Given the description of an element on the screen output the (x, y) to click on. 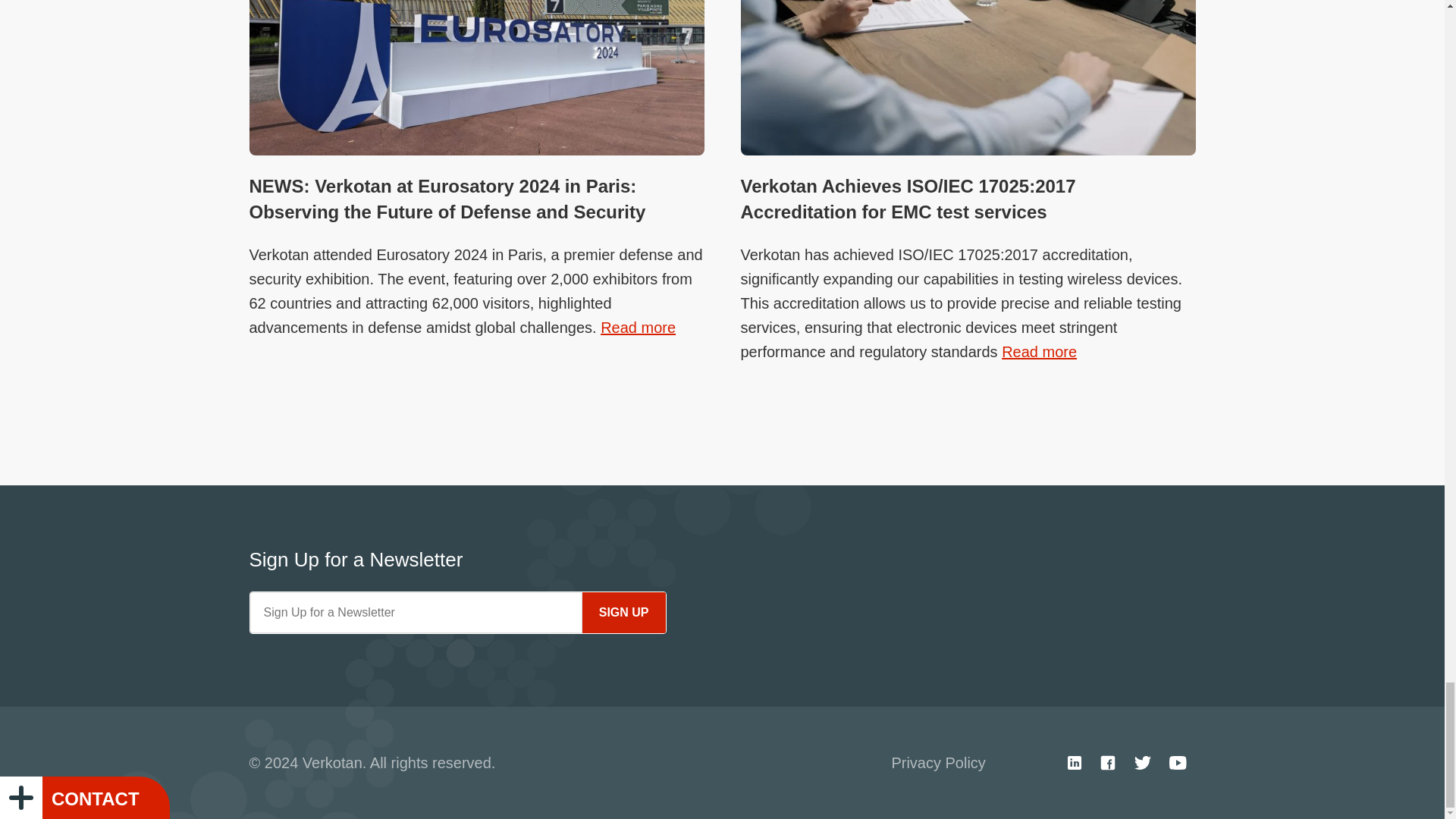
Sign up (623, 612)
